Given the description of an element on the screen output the (x, y) to click on. 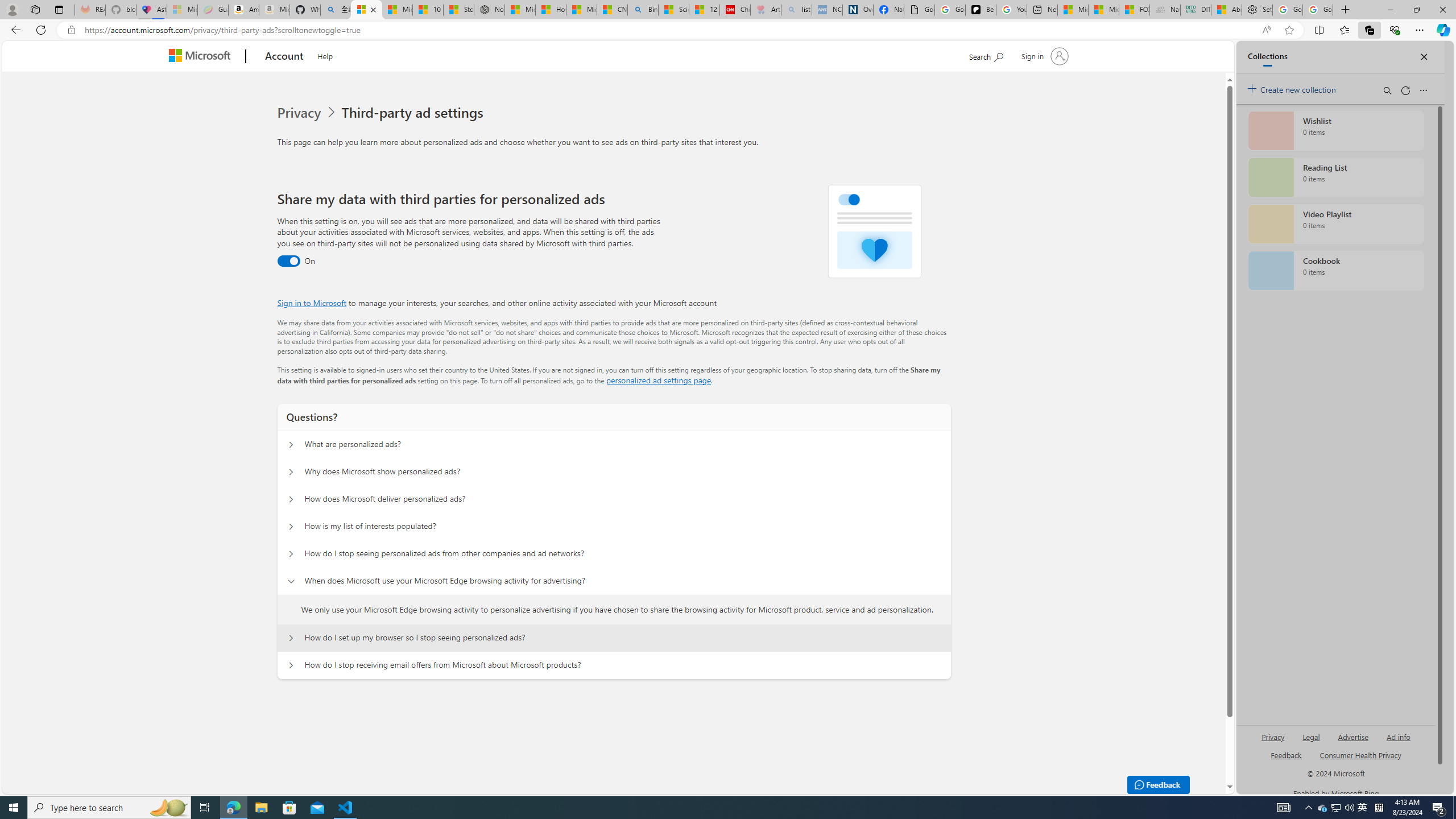
Google Analytics Opt-out Browser Add-on Download Page (919, 9)
Aberdeen, Hong Kong SAR hourly forecast | Microsoft Weather (1226, 9)
Microsoft-Report a Concern to Bing - Sleeping (181, 9)
Privacy (307, 112)
Be Smart | creating Science videos | Patreon (980, 9)
Questions? What are personalized ads? (290, 444)
list of asthma inhalers uk - Search - Sleeping (796, 9)
